Given the description of an element on the screen output the (x, y) to click on. 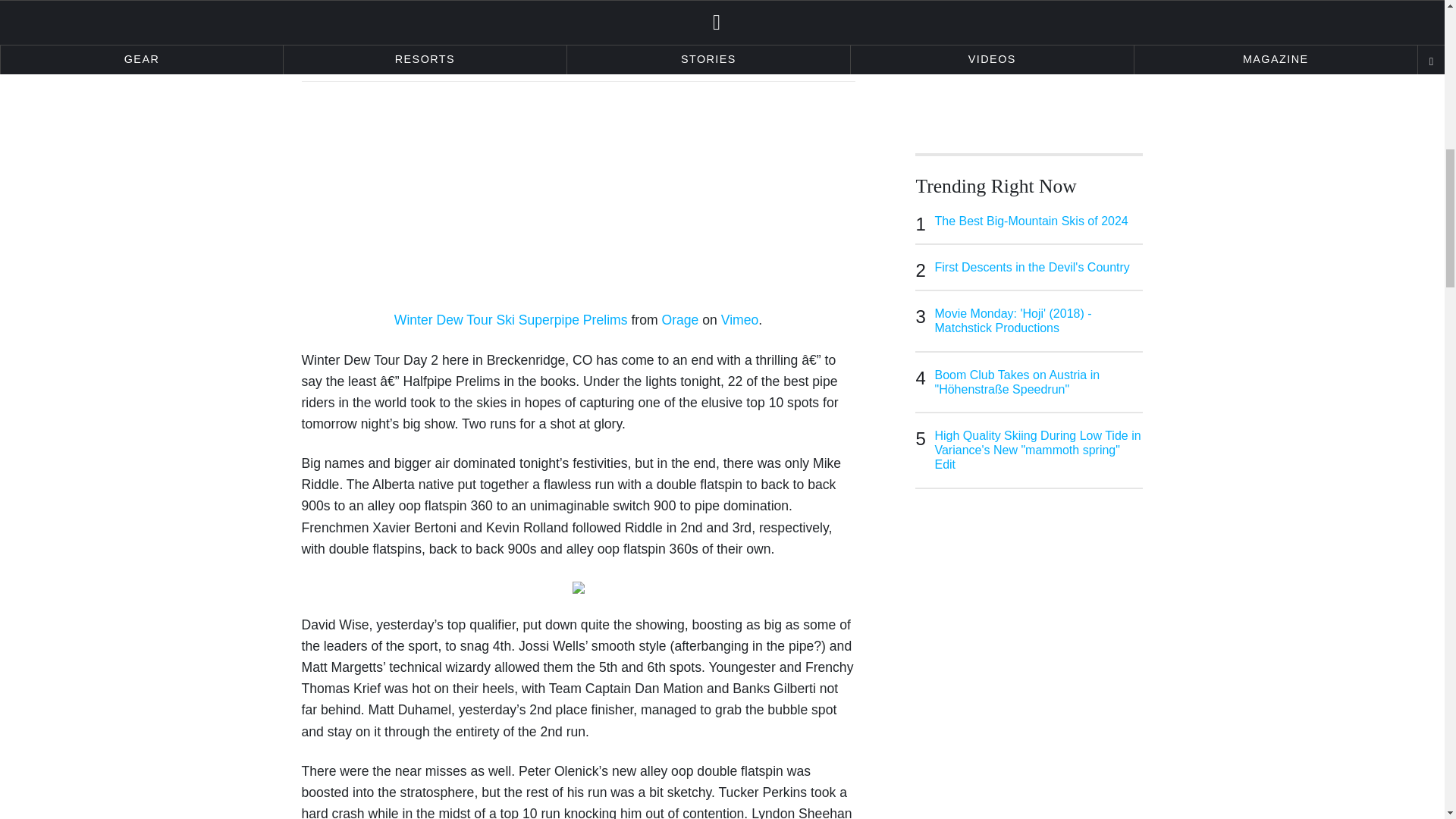
Winter Dew Tour Ski Superpipe Prelims (510, 319)
First Descents in the Devil's Country (1038, 267)
Orage (679, 319)
Vimeo (739, 319)
3rd party ad content (1028, 678)
The Best Big-Mountain Skis of 2024 (1038, 220)
3rd party ad content (1028, 57)
Shay Williams (387, 52)
